Given the description of an element on the screen output the (x, y) to click on. 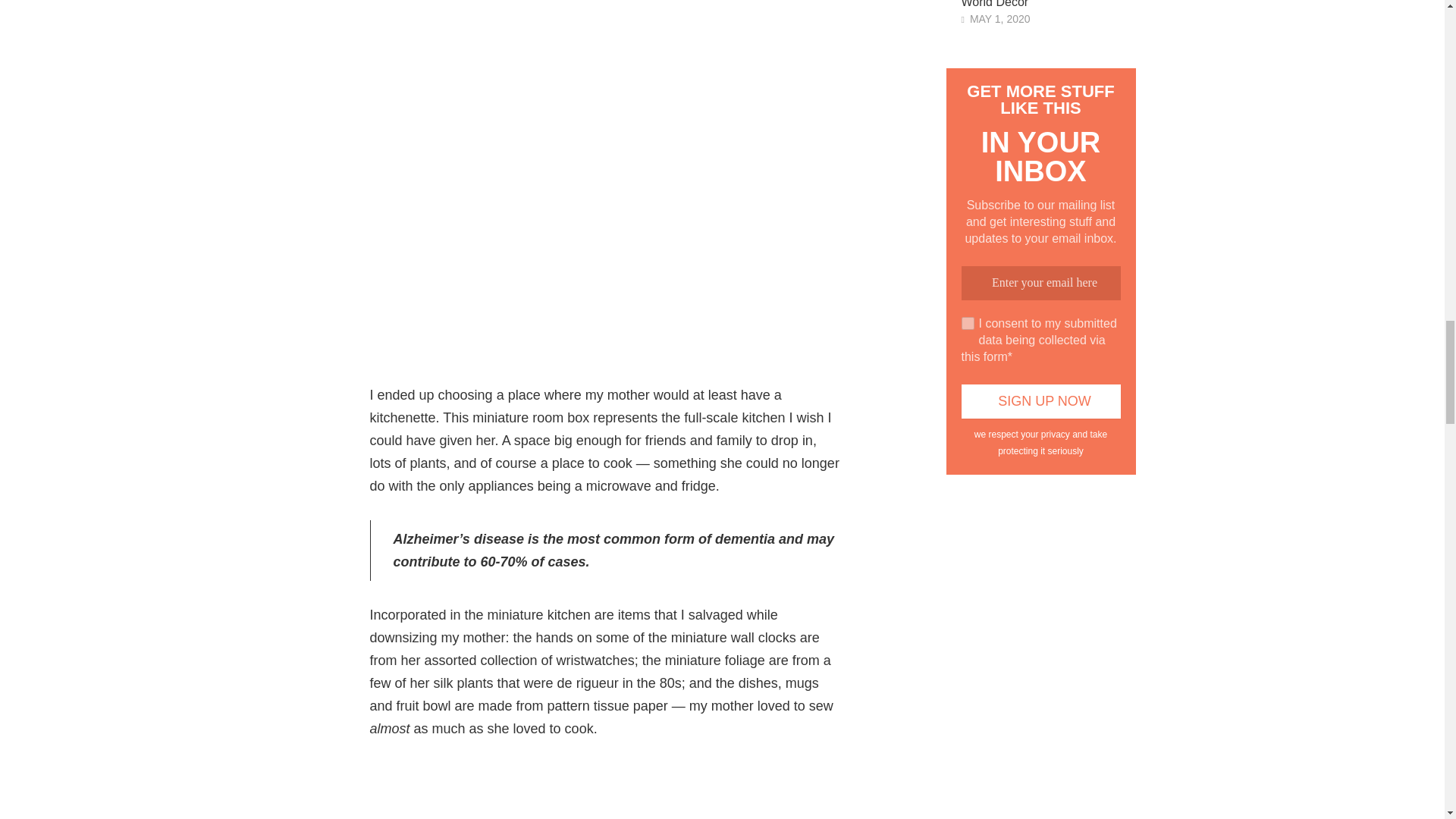
Sign Up Now (1040, 401)
on (967, 323)
Sign Up Now (1040, 401)
Miniature Furniture Suite with World Decor (1047, 5)
